Given the description of an element on the screen output the (x, y) to click on. 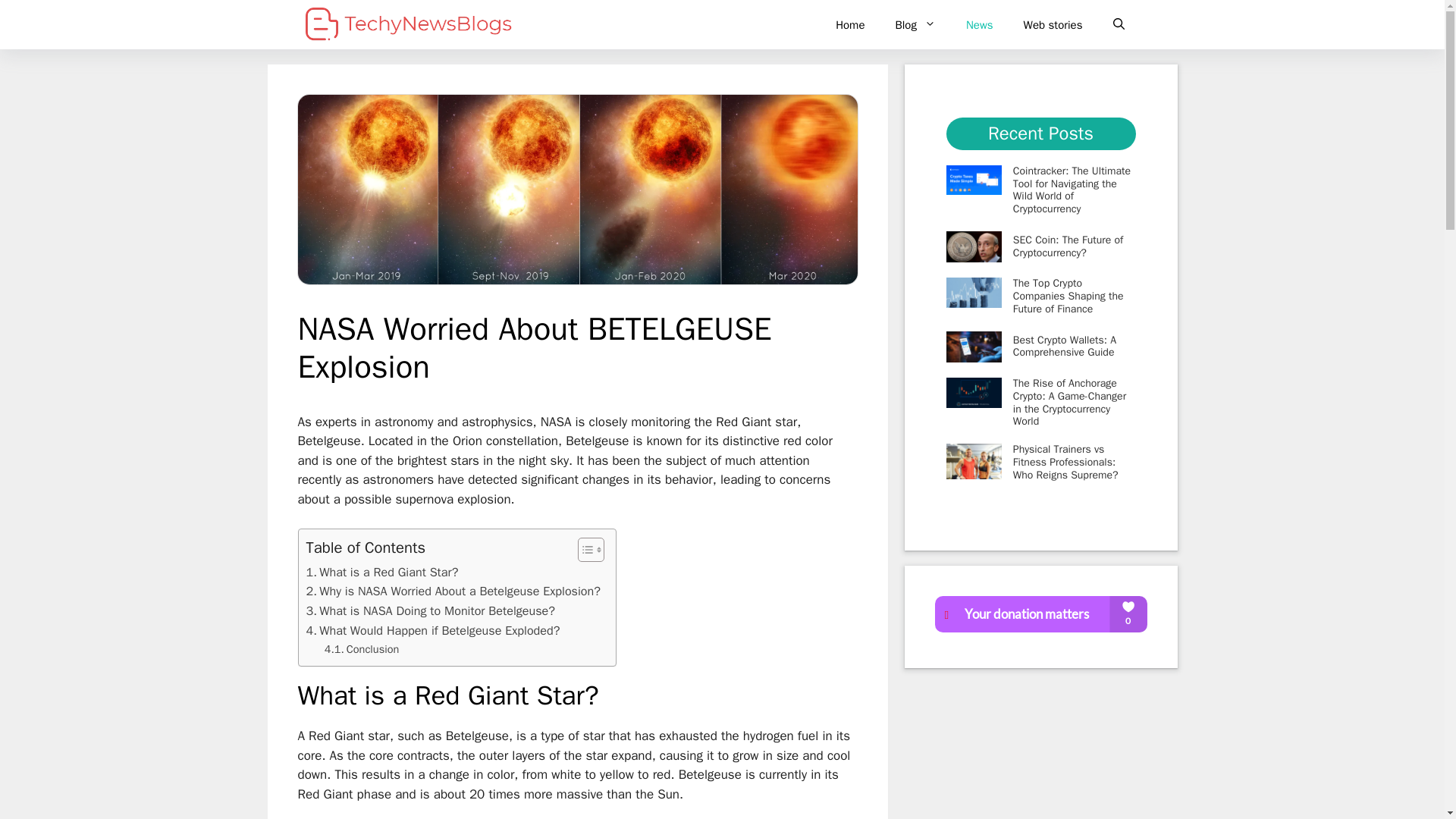
Why is NASA Worried About a Betelgeuse Explosion? (452, 591)
News (979, 23)
What Would Happen if Betelgeuse Exploded? (432, 630)
Why is NASA Worried About a Betelgeuse Explosion? (452, 591)
What Would Happen if Betelgeuse Exploded? (432, 630)
Blog (914, 23)
Conclusion (361, 649)
TechyNewsBlogs (408, 24)
Web stories (1053, 23)
The Top Crypto Companies Shaping the Future of Finance (1068, 295)
Home (850, 23)
What is a Red Giant Star? (381, 572)
SEC Coin: The Future of Cryptocurrency? (1067, 246)
What is NASA Doing to Monitor Betelgeuse? (430, 610)
